Given the description of an element on the screen output the (x, y) to click on. 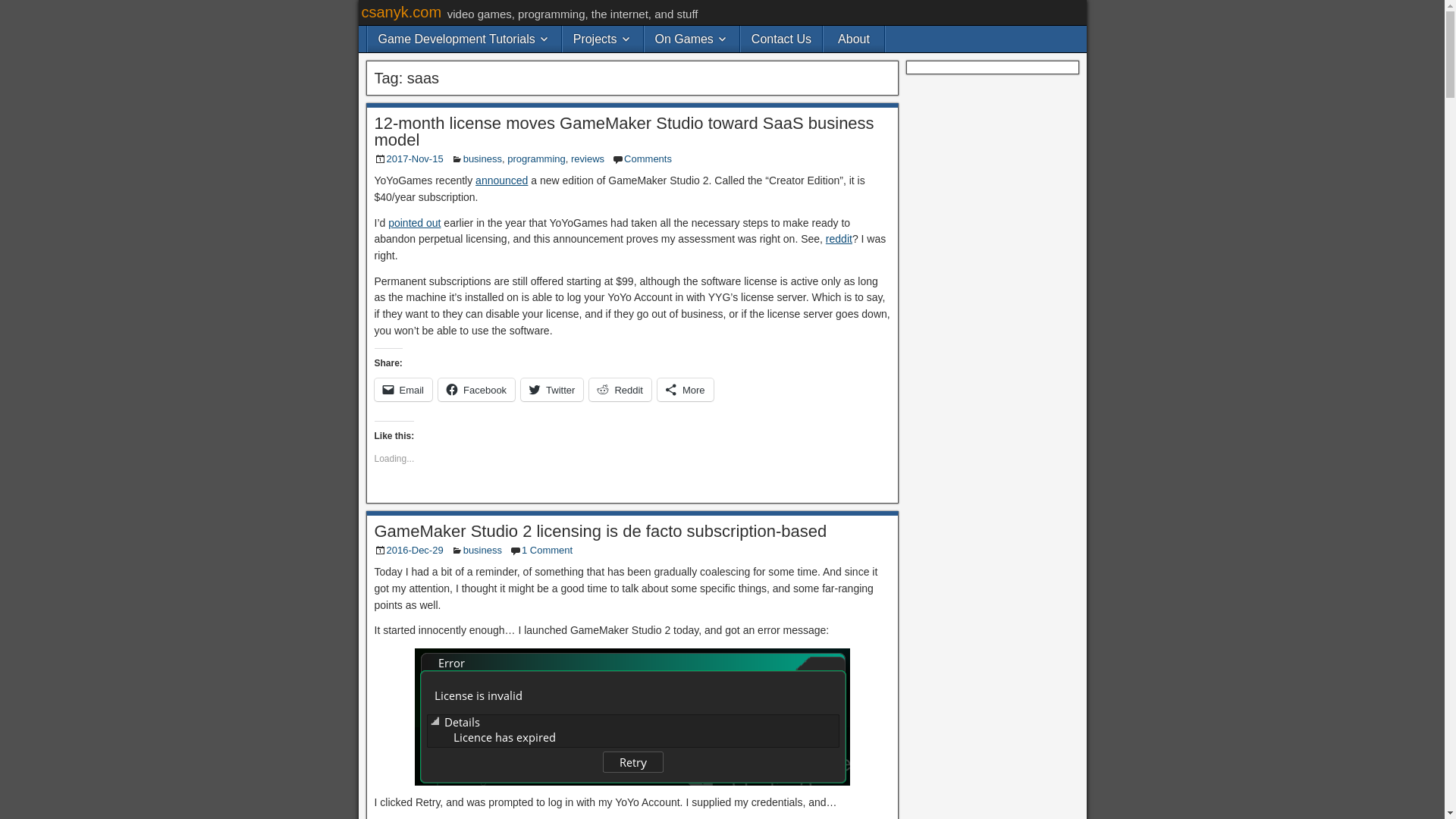
csanyk.com (401, 12)
Click to email a link to a friend (403, 389)
Click to share on Twitter (552, 389)
Game Development Tutorials (463, 38)
Click to share on Reddit (619, 389)
Click to share on Facebook (476, 389)
Projects (602, 38)
